Given the description of an element on the screen output the (x, y) to click on. 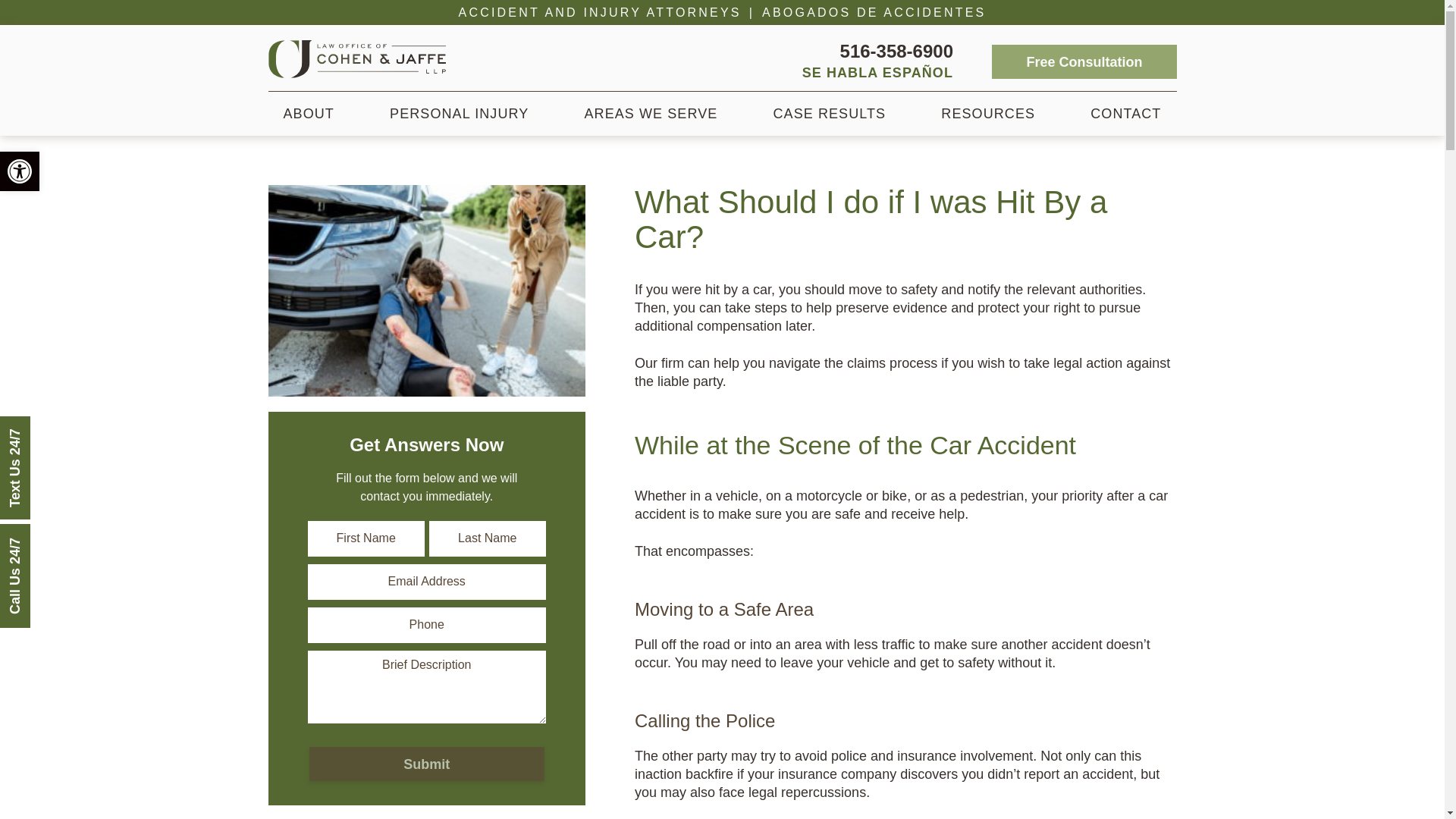
PERSONAL INJURY (458, 113)
AREAS WE SERVE (650, 113)
Accessibility Tools (19, 170)
516-358-6900 (896, 50)
Free Consultation (1083, 61)
Accessibility Tools (19, 170)
ABOUT (308, 113)
Submit (426, 763)
